Given the description of an element on the screen output the (x, y) to click on. 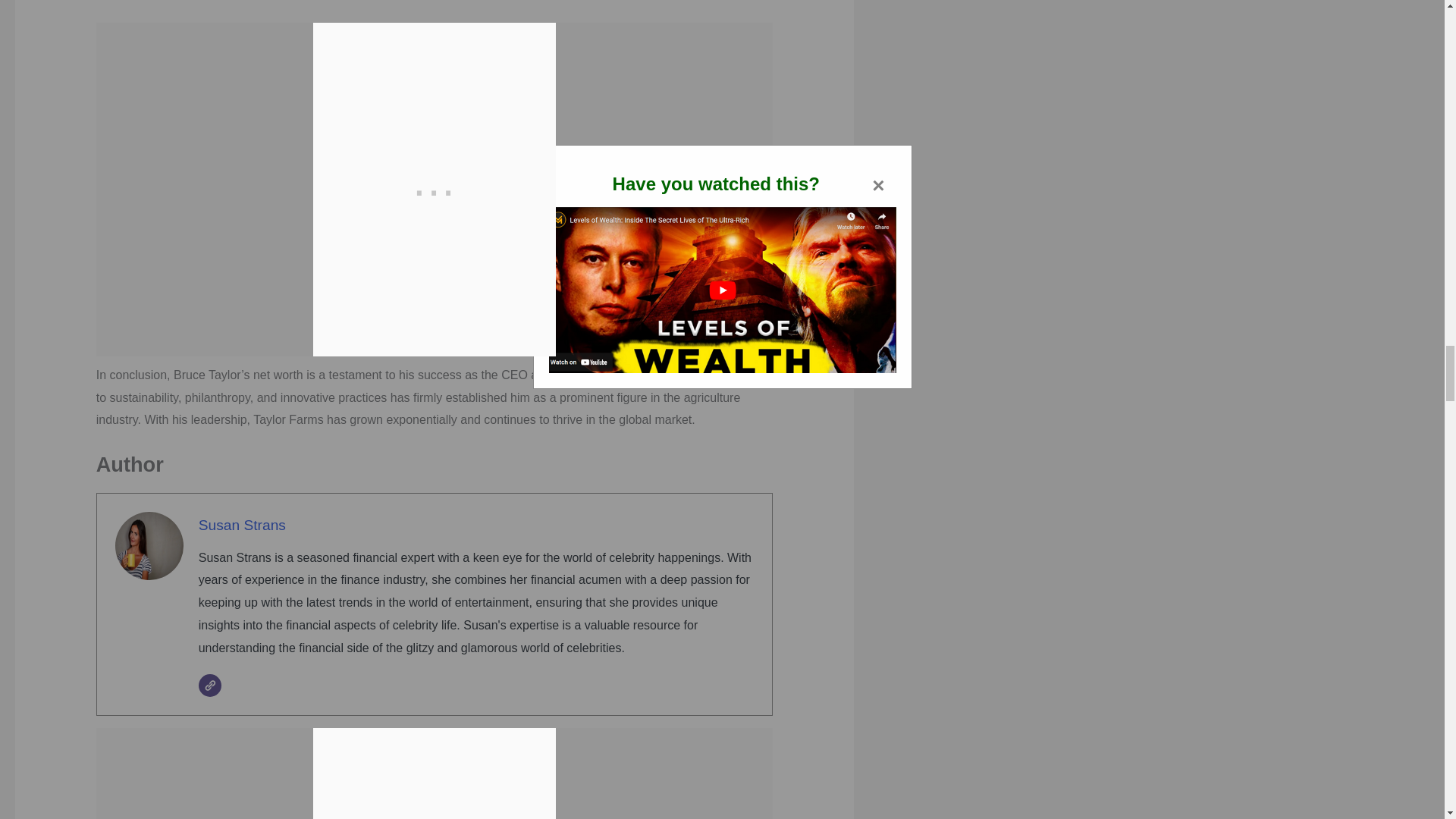
Susan Strans (241, 524)
Susan Strans (241, 524)
